Given the description of an element on the screen output the (x, y) to click on. 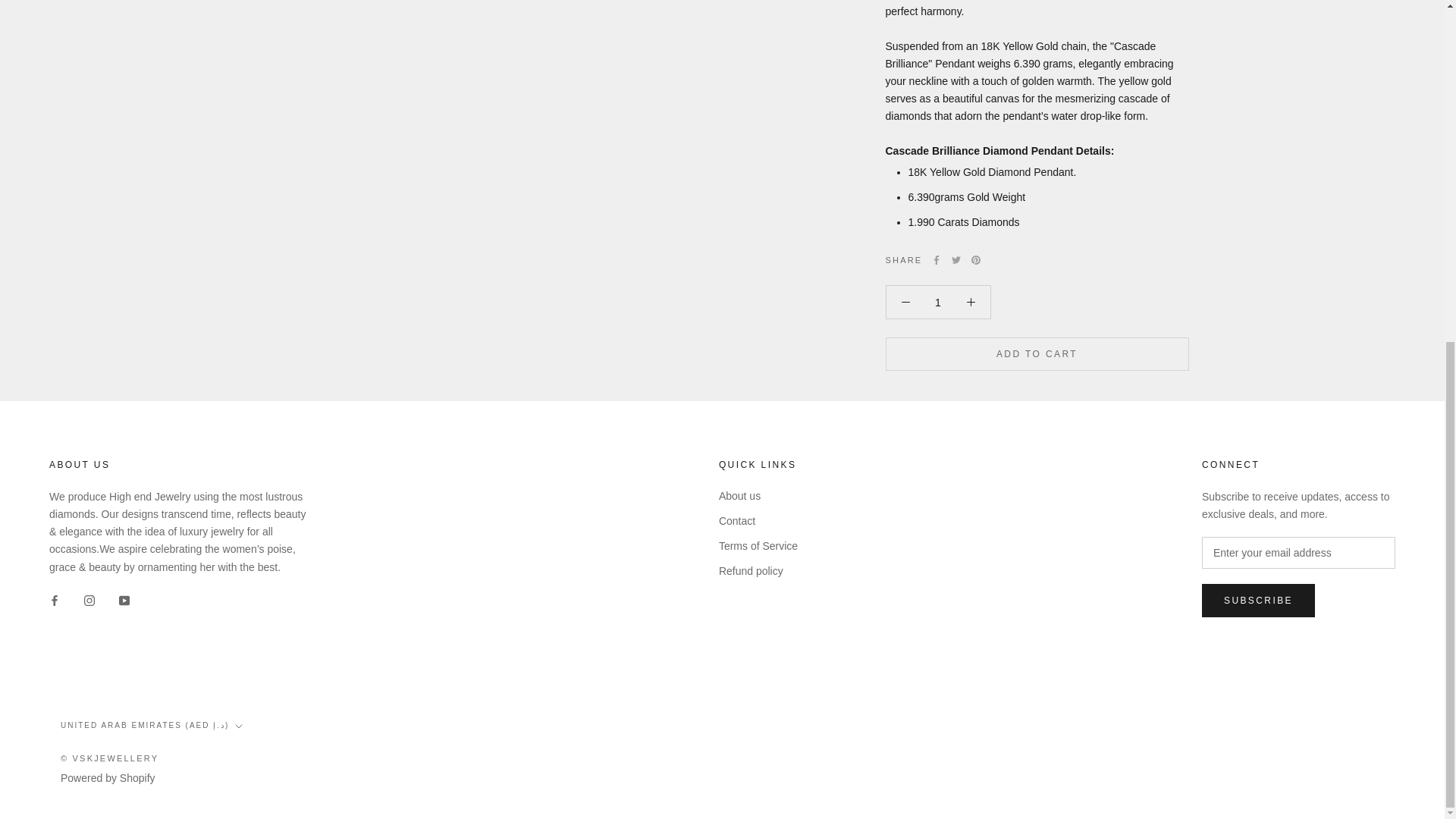
1 (938, 302)
